Given the description of an element on the screen output the (x, y) to click on. 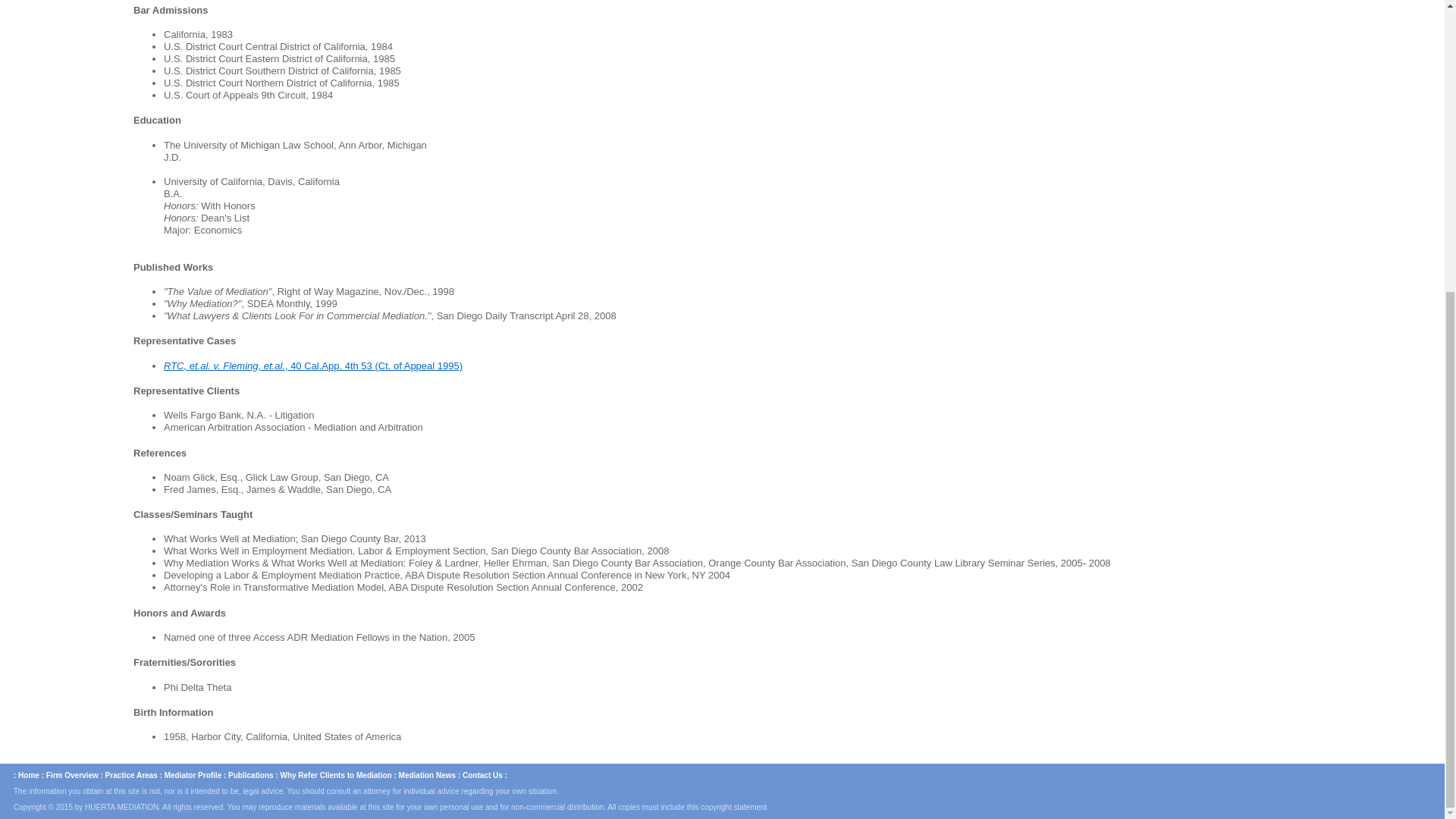
Mediation News (427, 775)
Practice Areas (130, 775)
Mediator Profile (193, 775)
Contact Us (482, 775)
Home (28, 775)
Publications (250, 775)
Firm Overview (72, 775)
Why Refer Clients to Mediation (335, 775)
